Given the description of an element on the screen output the (x, y) to click on. 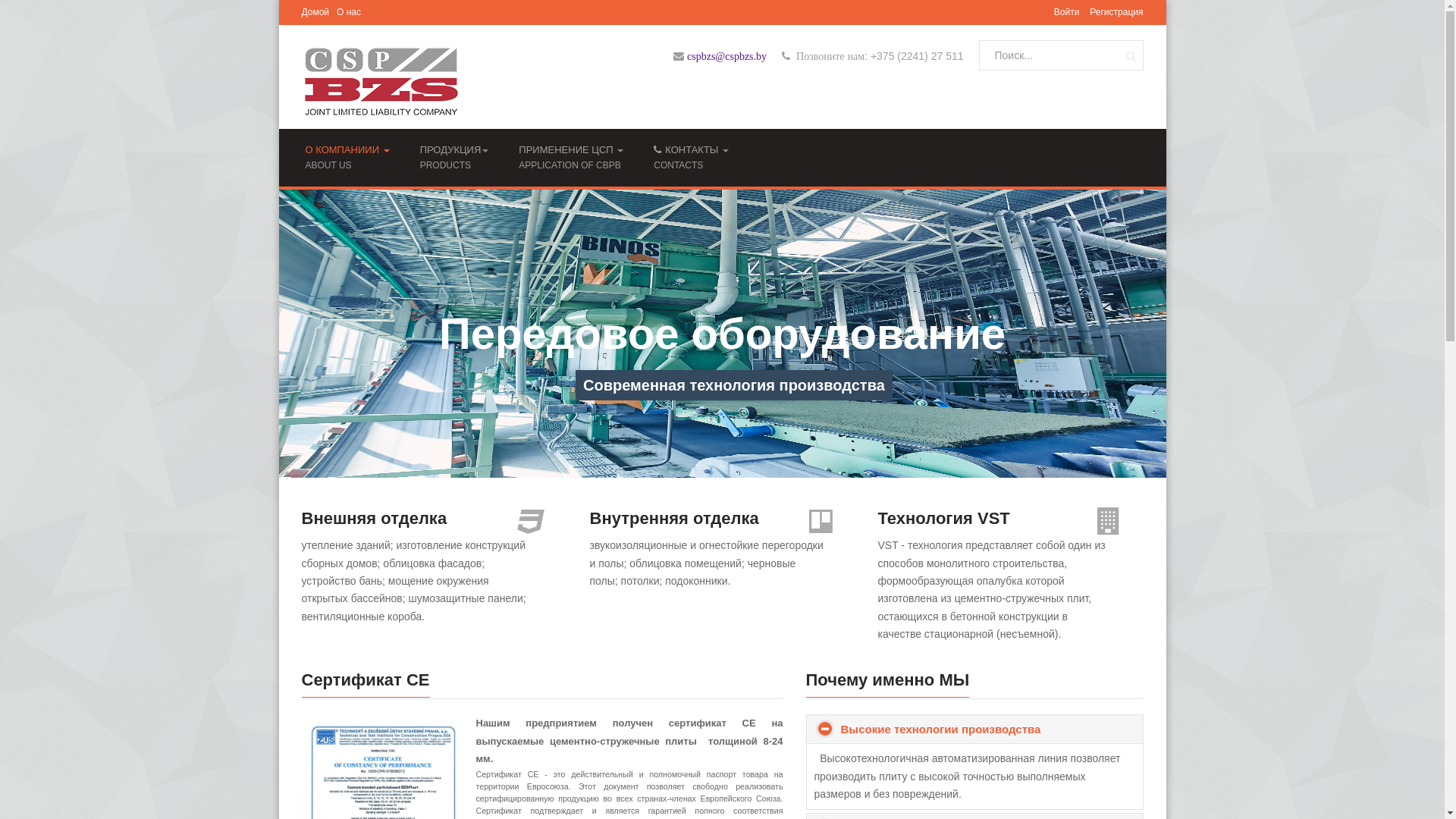
cspbzs@cspbzs.by Element type: text (726, 56)
